Given the description of an element on the screen output the (x, y) to click on. 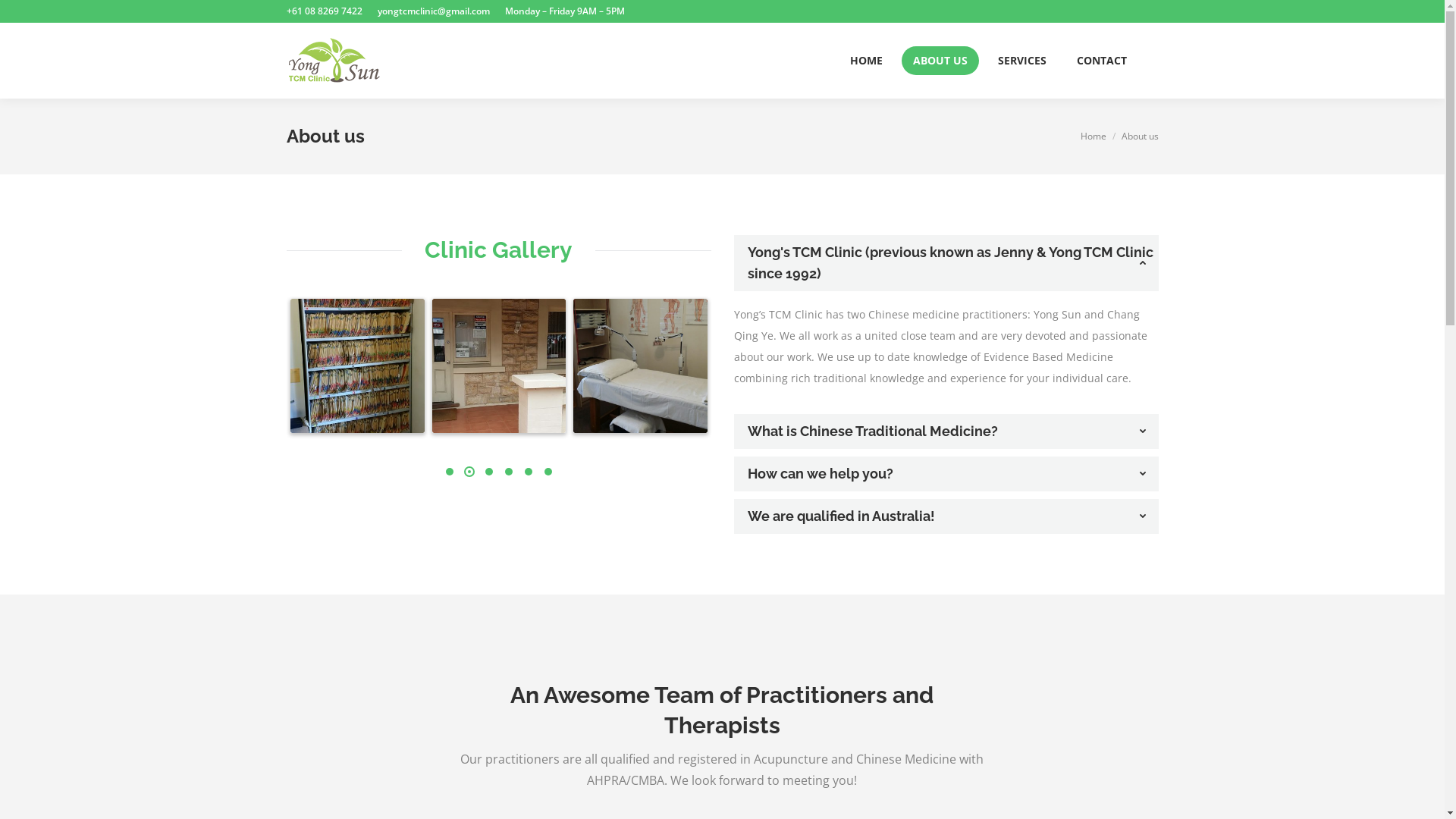
We are qualified in Australia! Element type: text (946, 515)
HOME Element type: text (866, 60)
Customer-Files Element type: hover (357, 365)
Home Element type: text (1092, 135)
CONTACT Element type: text (1100, 60)
Go! Element type: text (746, 446)
SERVICES Element type: text (1021, 60)
Go! Element type: text (25, 16)
How can we help you? Element type: text (946, 473)
Front Element type: hover (499, 365)
ABOUT US Element type: text (939, 60)
Treat-Room Element type: hover (640, 365)
What is Chinese Traditional Medicine? Element type: text (946, 431)
